Given the description of an element on the screen output the (x, y) to click on. 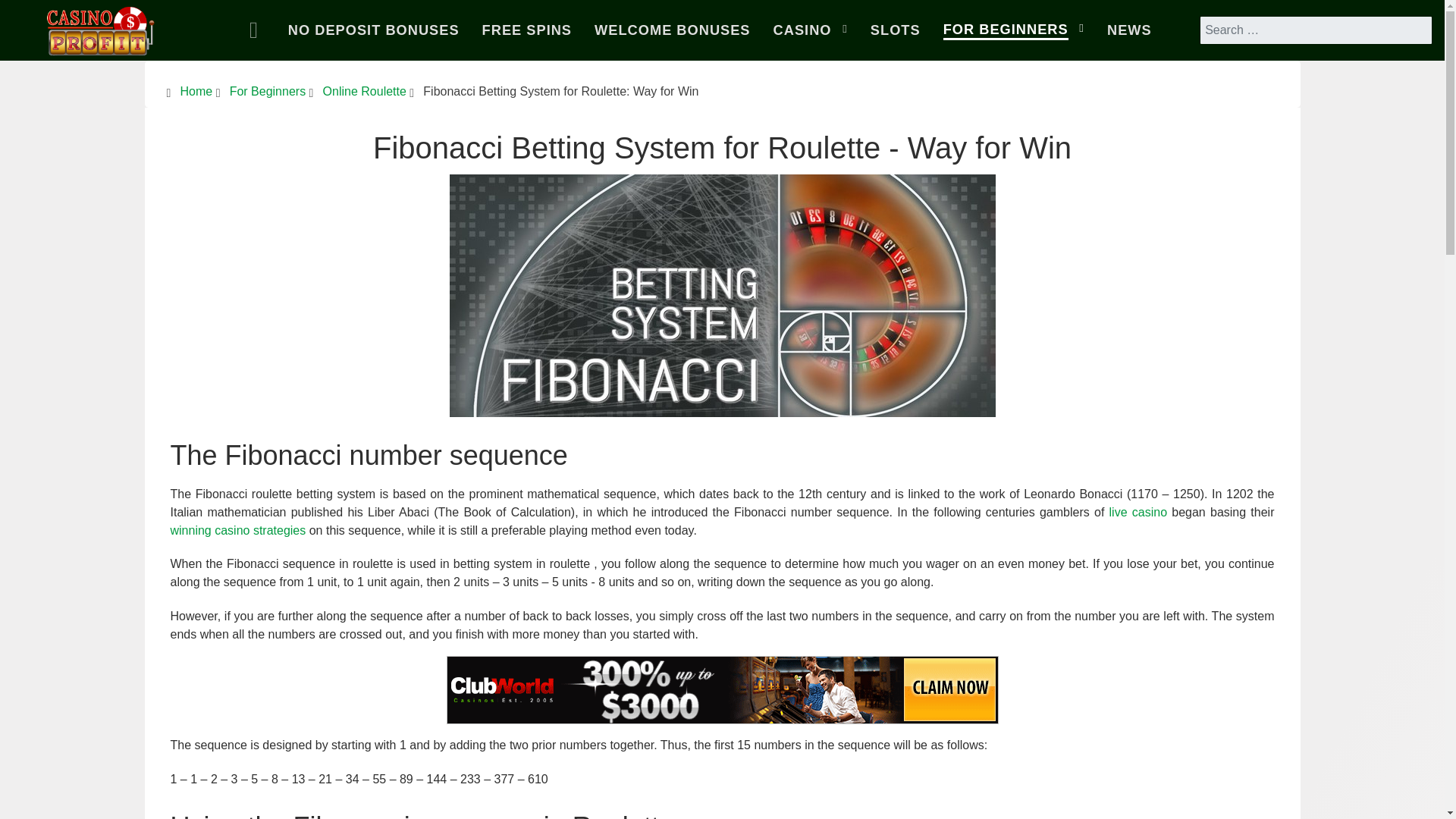
winning casino strategies (237, 530)
Fibonacci Betting System for Roulette: Way for Win (721, 295)
live casino (1138, 512)
SLOTS (895, 29)
CASINO (809, 29)
Home (257, 30)
Online Roulette (364, 91)
For Beginners (267, 91)
WELCOME BONUSES (672, 29)
Bonus Profit (100, 28)
